Given the description of an element on the screen output the (x, y) to click on. 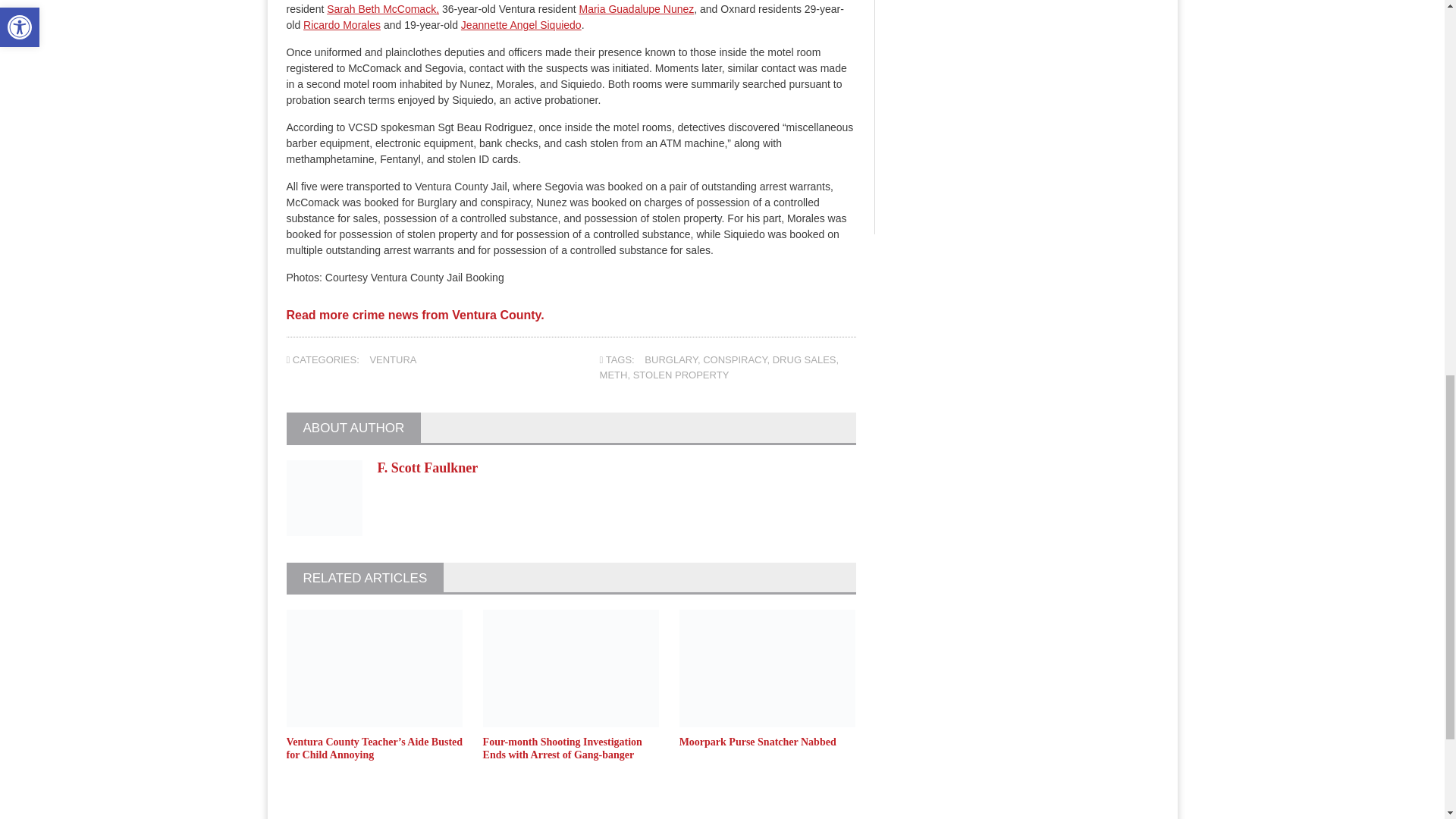
Jeannette Angel Siquiedo (520, 24)
METH (613, 374)
CONSPIRACY (735, 359)
F. Scott Faulkner (428, 467)
Maria Guadalupe Nunez (636, 9)
VENTURA (392, 359)
Ricardo Morales (341, 24)
STOLEN PROPERTY (681, 374)
BURGLARY (671, 359)
